Given the description of an element on the screen output the (x, y) to click on. 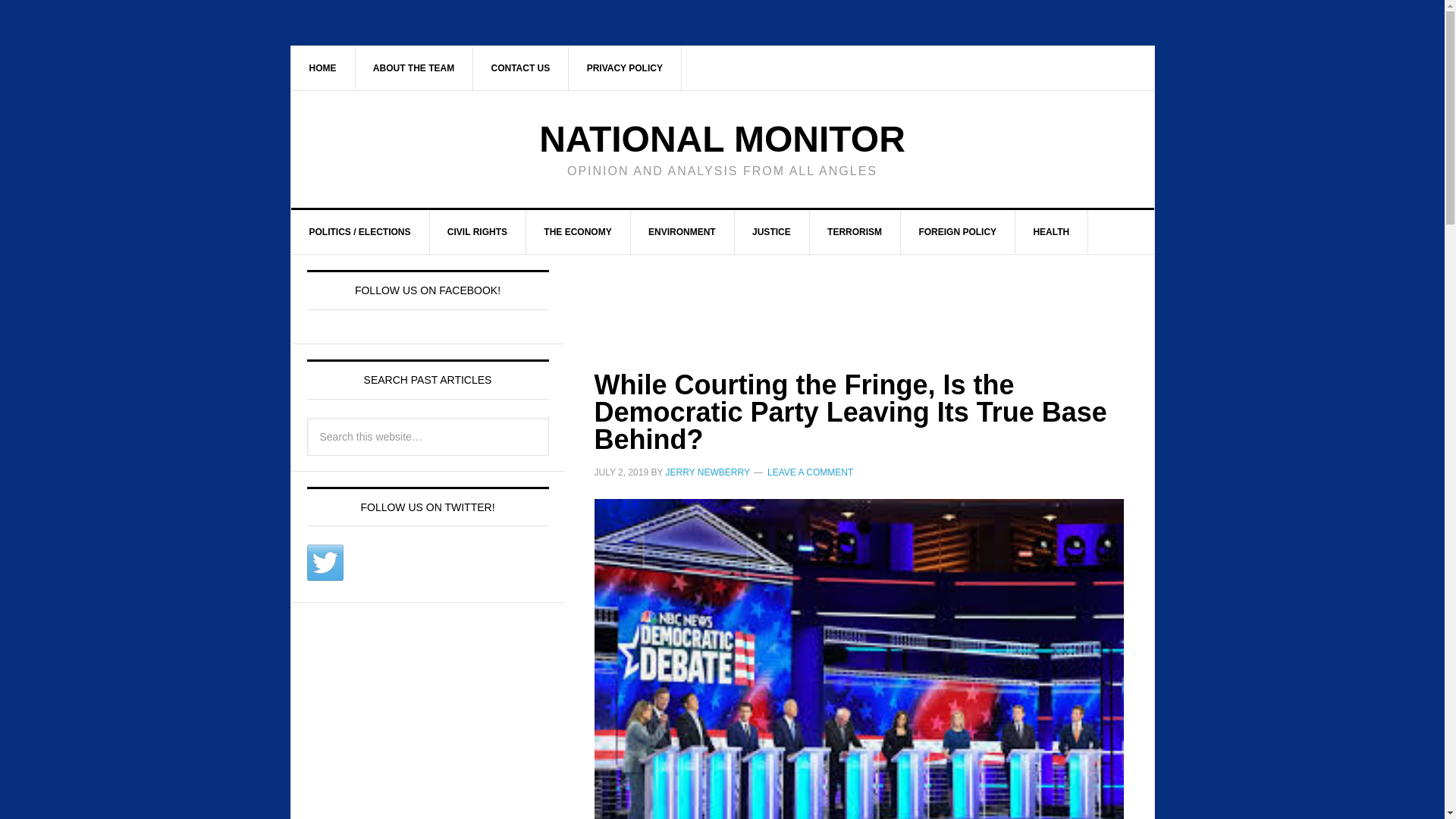
Advertisement (840, 295)
HOME (323, 67)
LEAVE A COMMENT (810, 471)
FOREIGN POLICY (956, 231)
JERRY NEWBERRY (707, 471)
TERRORISM (855, 231)
ABOUT THE TEAM (414, 67)
THE ECONOMY (577, 231)
Follow us on Twitter (323, 562)
HEALTH (1050, 231)
CIVIL RIGHTS (477, 231)
PRIVACY POLICY (625, 67)
NATIONAL MONITOR (721, 138)
